Given the description of an element on the screen output the (x, y) to click on. 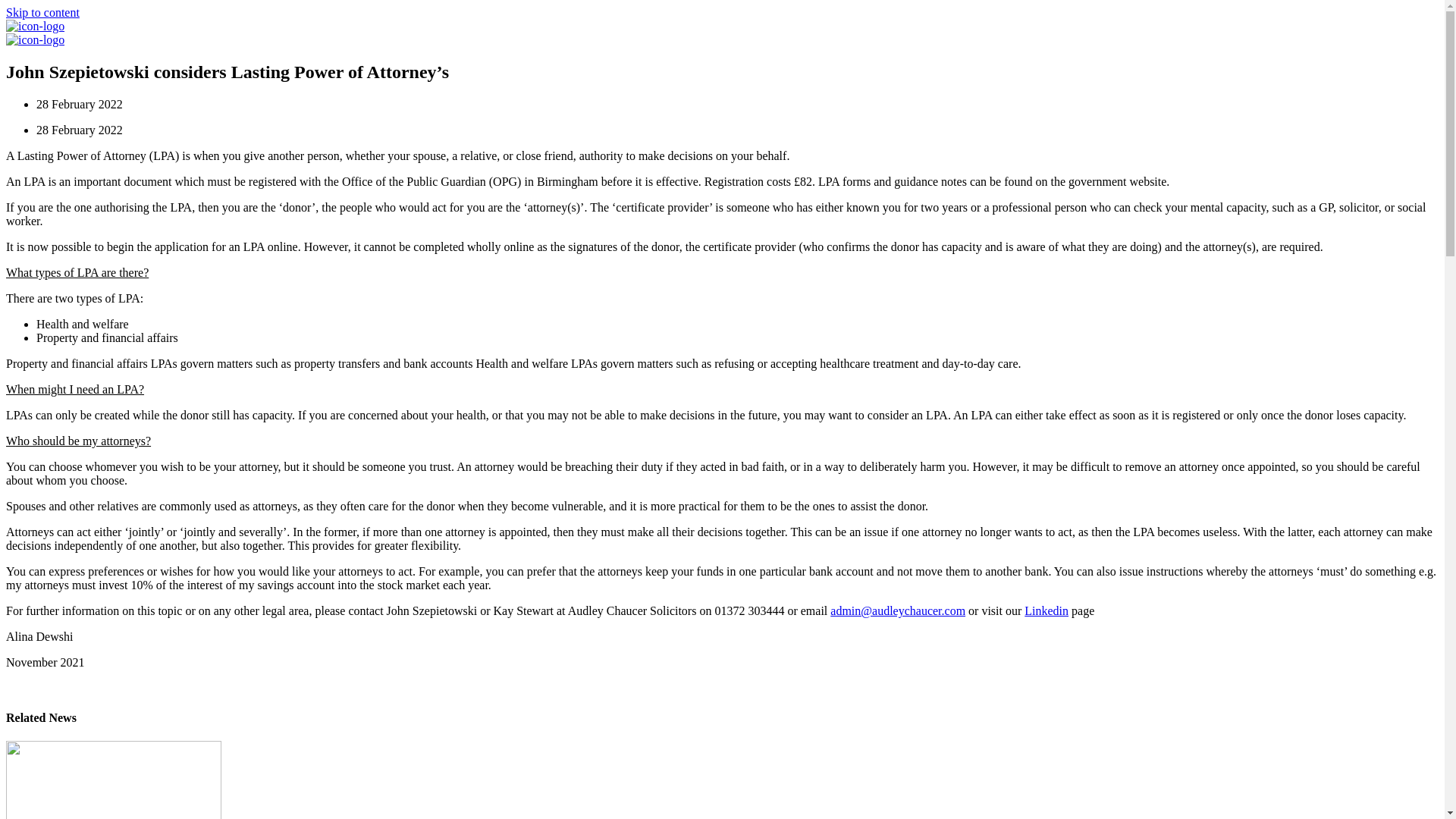
icon-logo (34, 26)
icon-logo (34, 39)
Linkedin (1046, 610)
Skip to content (42, 11)
